Given the description of an element on the screen output the (x, y) to click on. 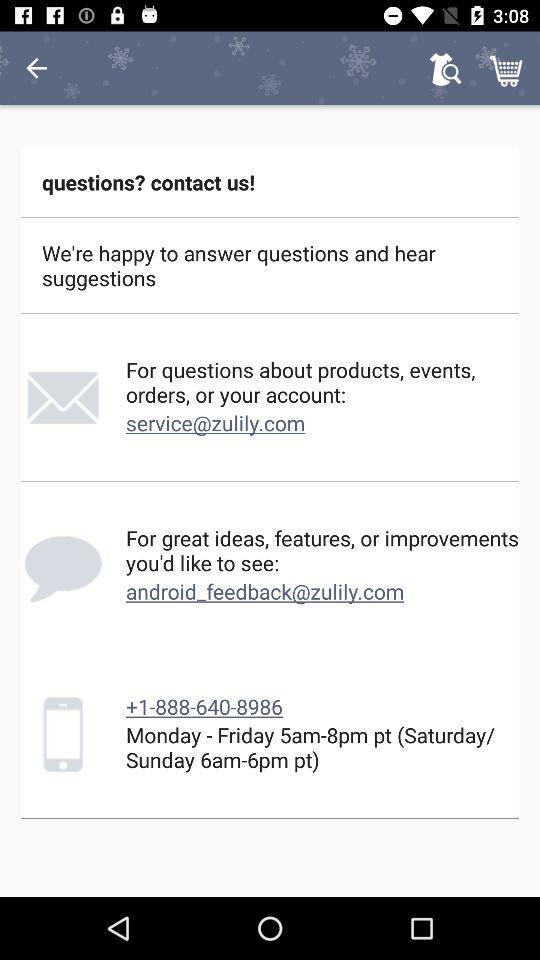
tap item at the top left corner (36, 68)
